Given the description of an element on the screen output the (x, y) to click on. 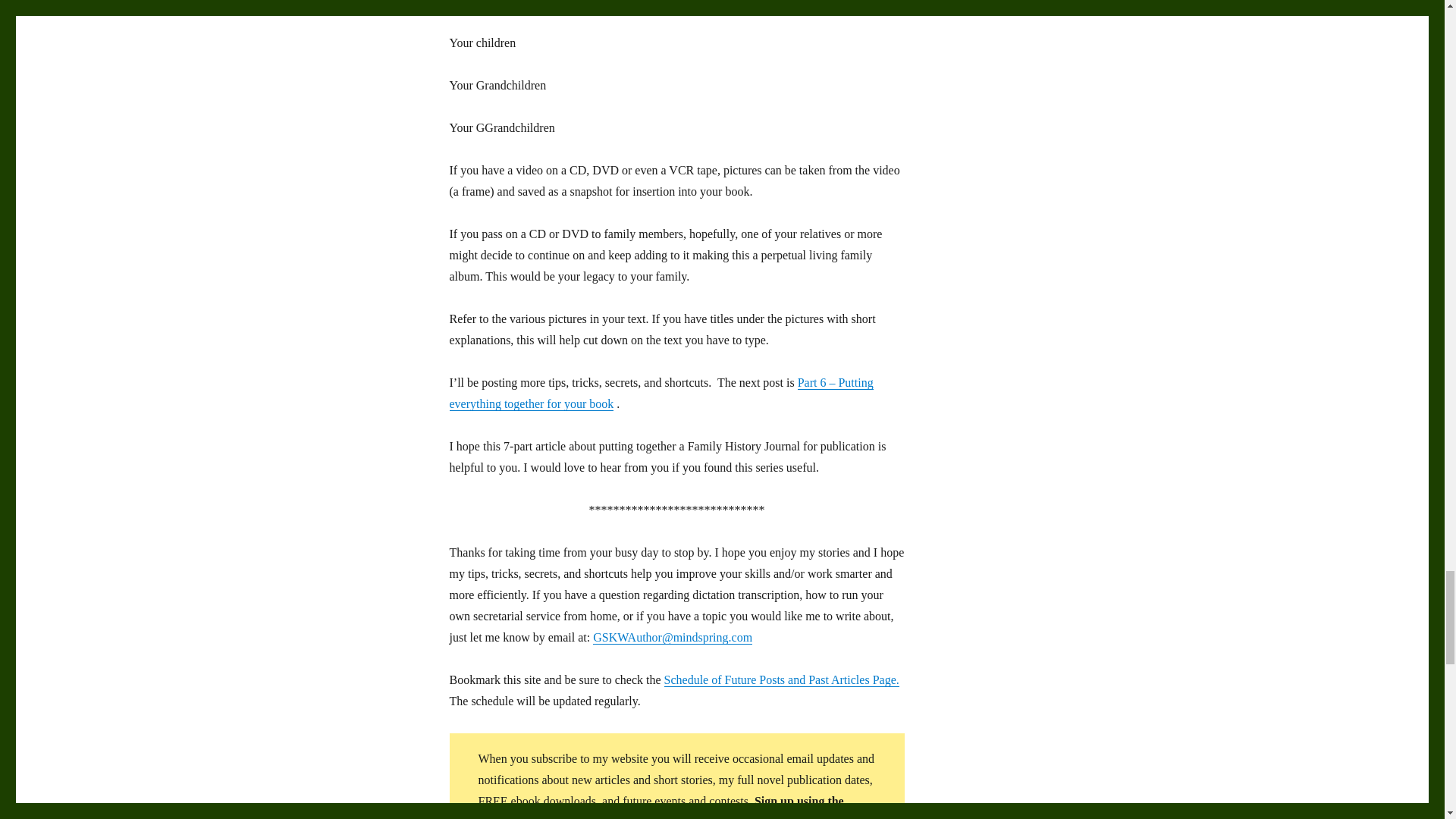
Schedule of Future Posts and Past Articles Page. (781, 679)
